Given the description of an element on the screen output the (x, y) to click on. 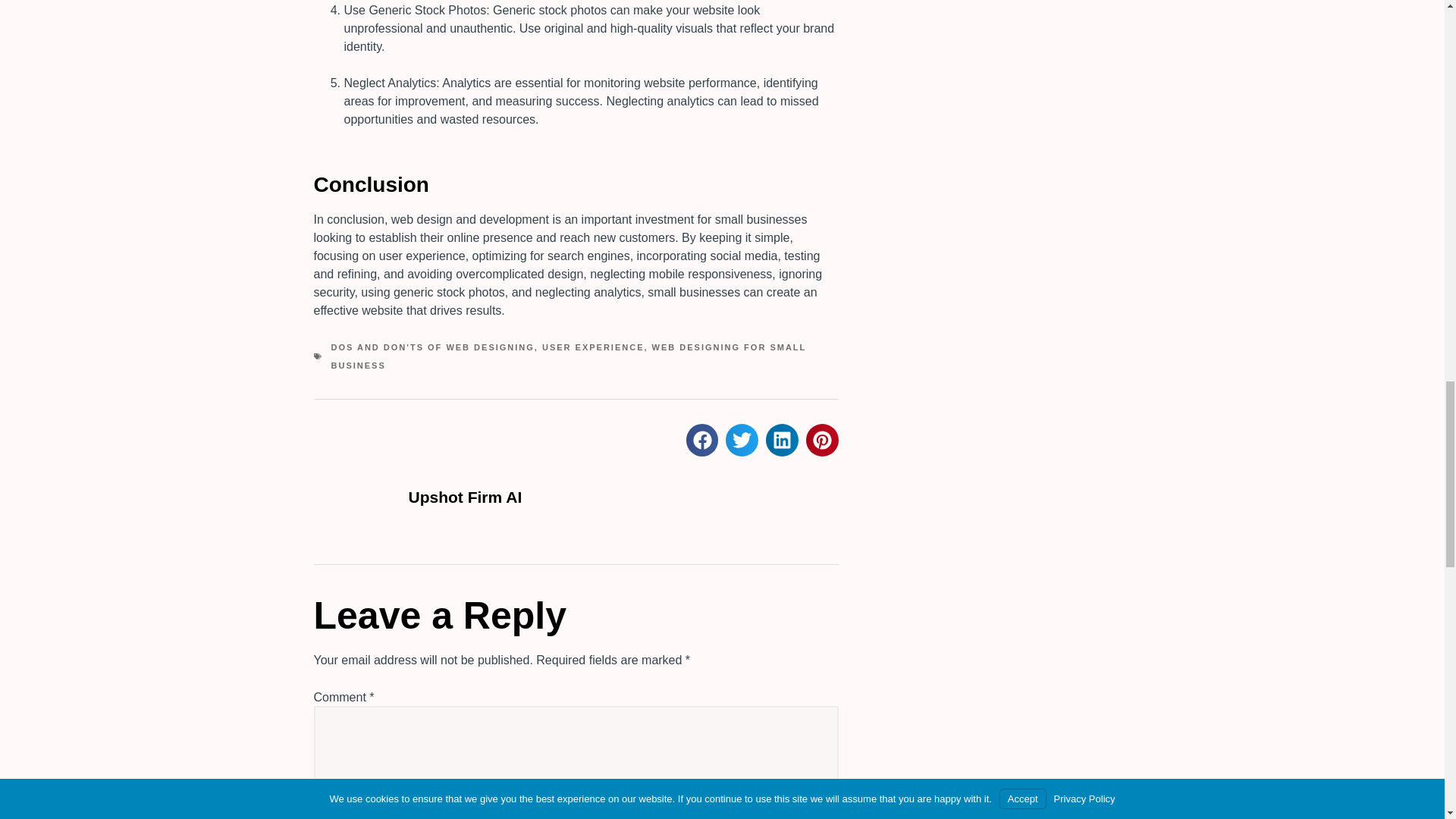
WEB DESIGNING FOR SMALL BUSINESS (568, 356)
Upshot Firm AI (576, 498)
Upshot Firm AI (622, 496)
DOS AND DON'TS OF WEB DESIGNING (432, 347)
USER EXPERIENCE (593, 347)
